Given the description of an element on the screen output the (x, y) to click on. 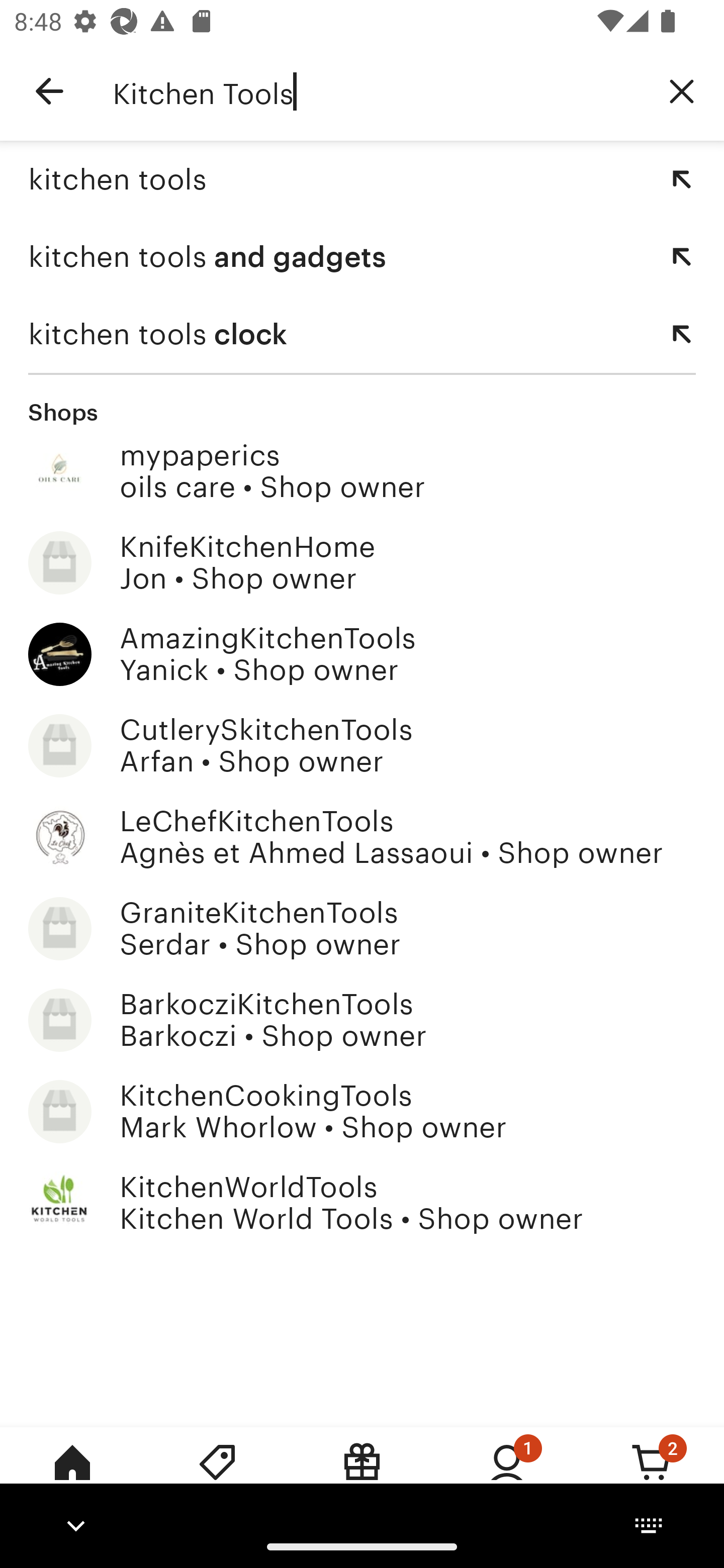
Navigate up (49, 91)
Clear query (681, 90)
Kitchen Tools (375, 91)
Deals (216, 1475)
Gift Mode (361, 1475)
You, 1 new notification (506, 1475)
Cart, 2 new notifications (651, 1475)
